Given the description of an element on the screen output the (x, y) to click on. 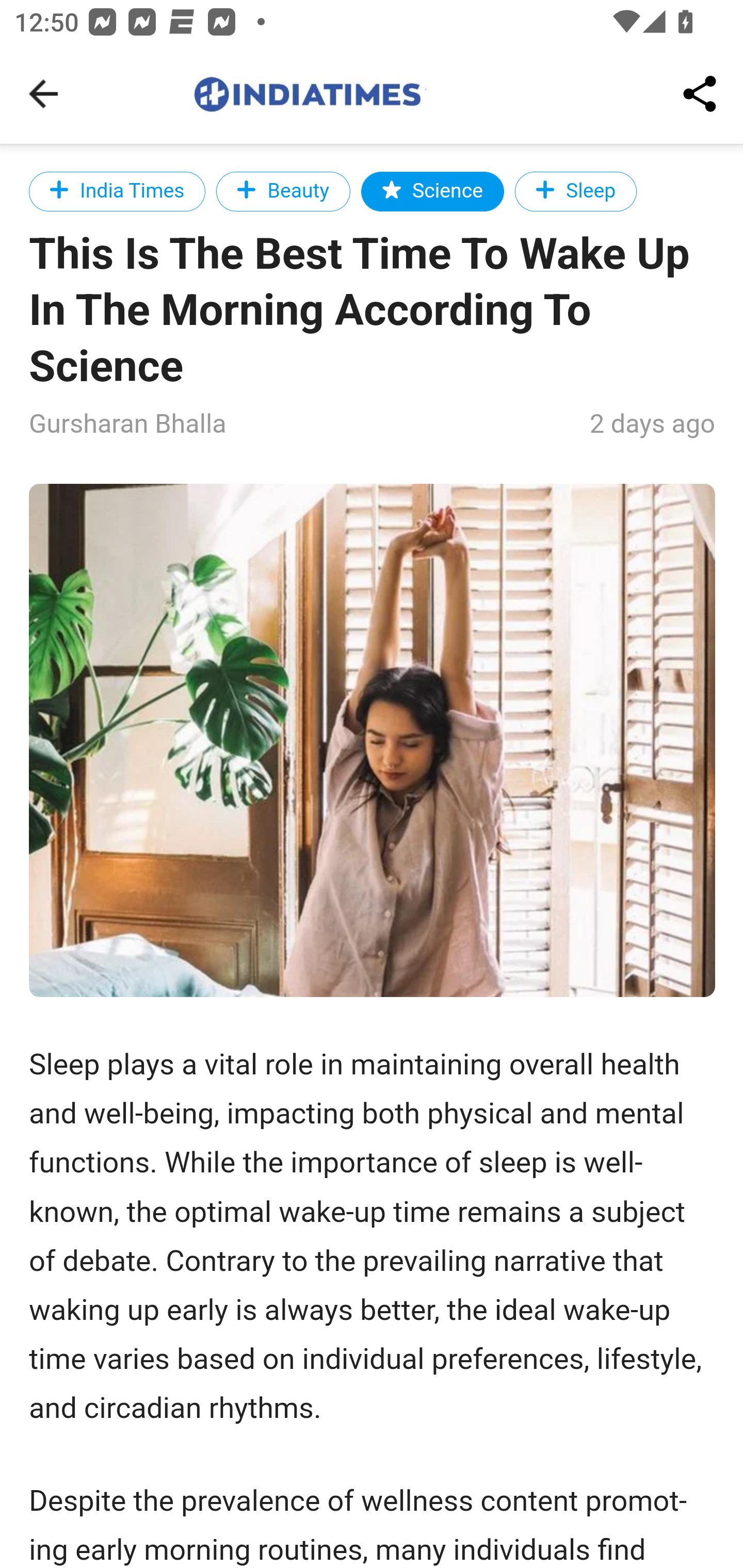
India Times (117, 191)
Beauty (283, 191)
Science (431, 191)
Sleep (574, 191)
